Given the description of an element on the screen output the (x, y) to click on. 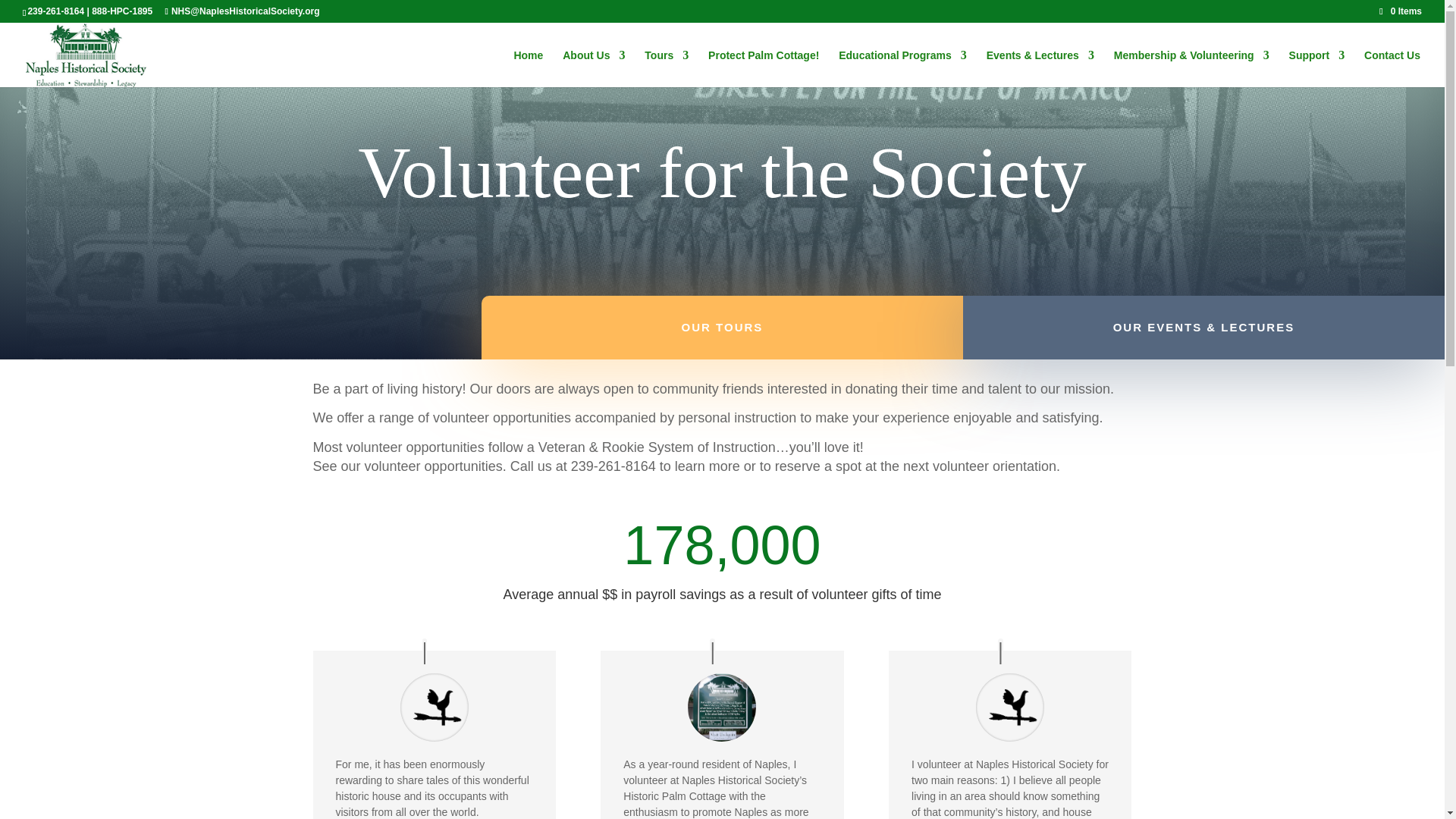
0 Items (1400, 10)
Educational Programs (902, 67)
Tours (666, 67)
Protect Palm Cottage! (762, 67)
About Us (593, 67)
Support (1316, 67)
